Given the description of an element on the screen output the (x, y) to click on. 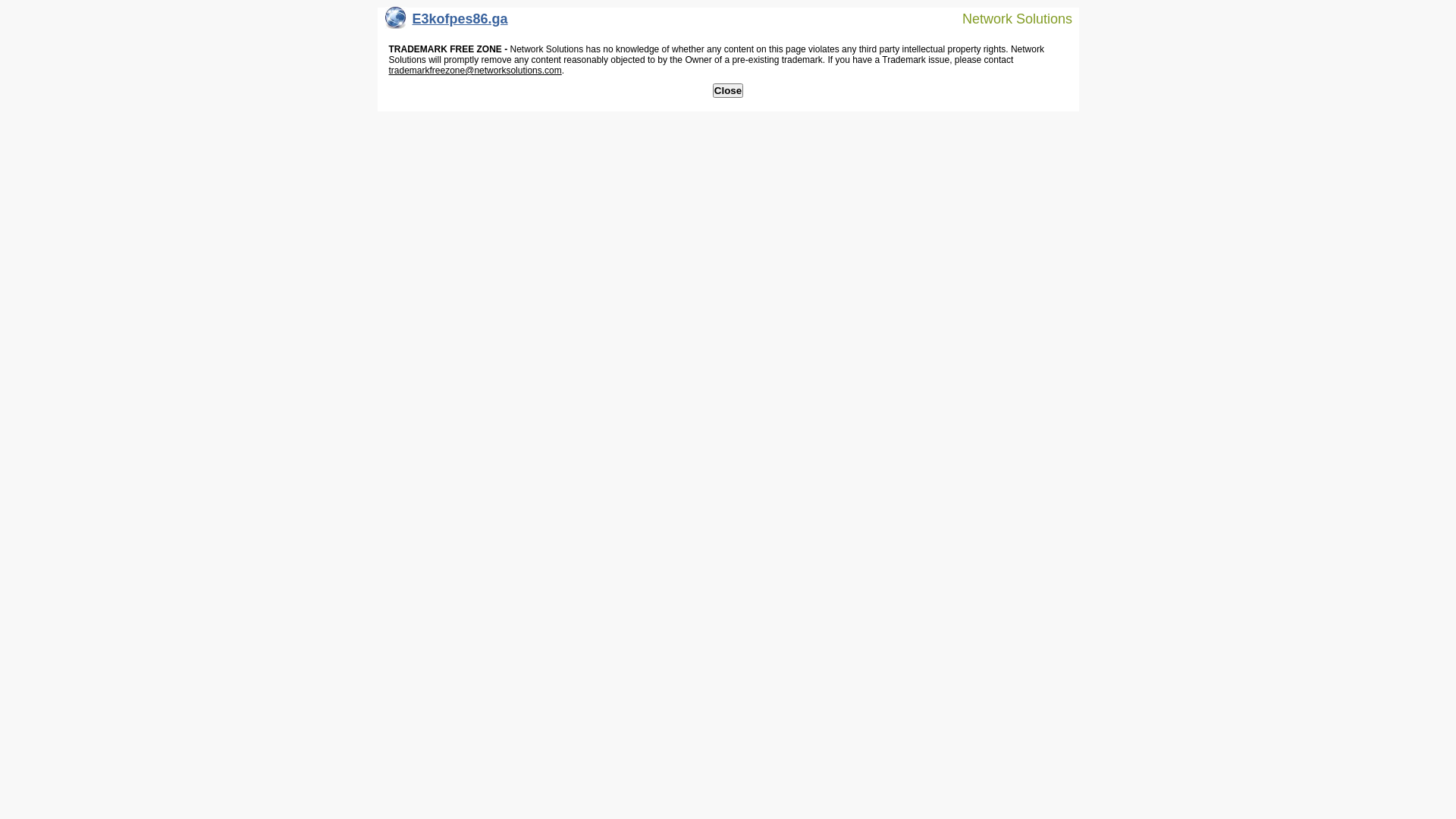
E3kofpes86.ga Element type: text (446, 21)
Close Element type: text (727, 90)
trademarkfreezone@networksolutions.com Element type: text (474, 70)
Network Solutions Element type: text (1007, 17)
